Given the description of an element on the screen output the (x, y) to click on. 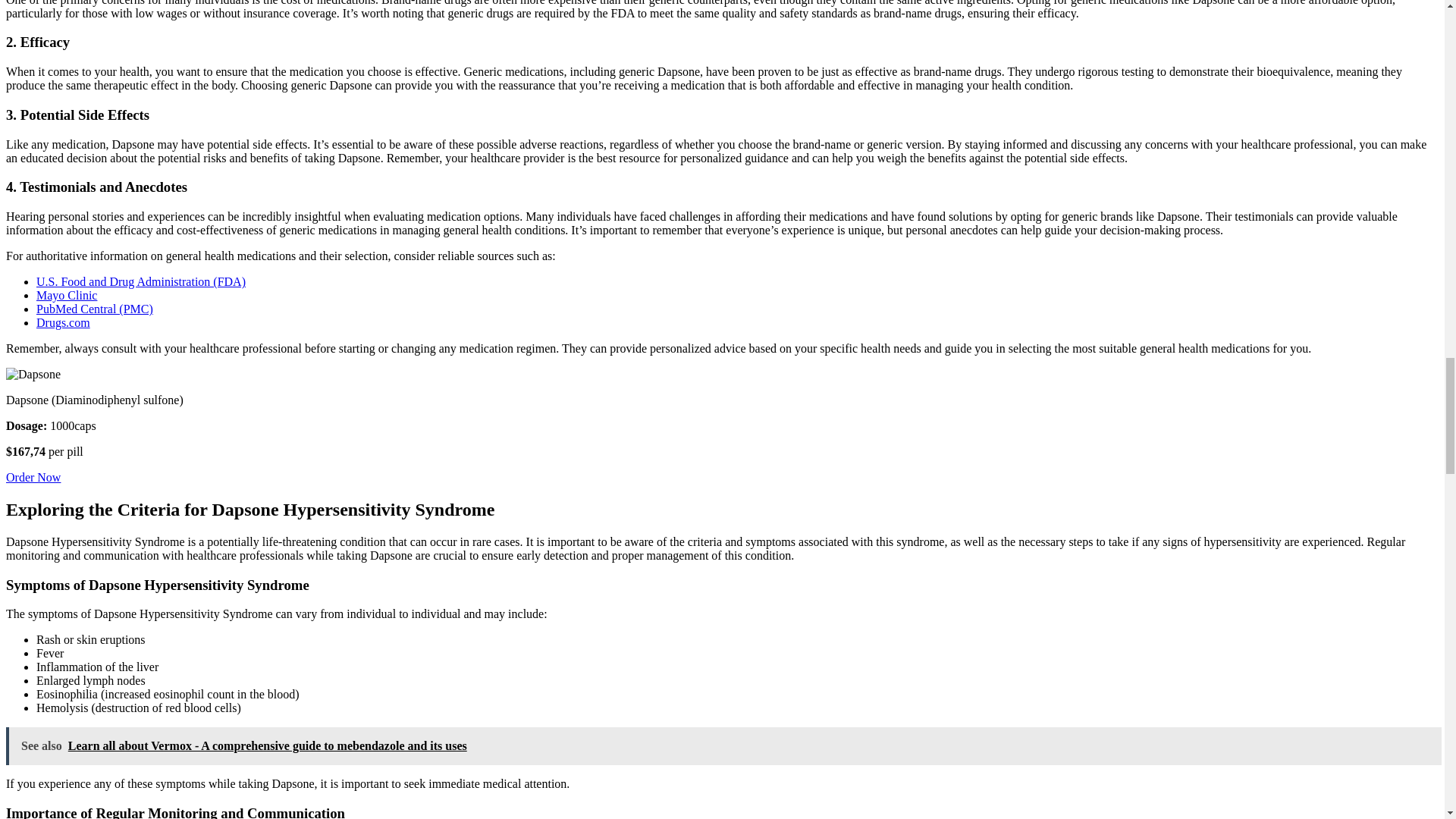
Drugs.com (63, 322)
Order Now (33, 477)
Mayo Clinic (66, 295)
